Given the description of an element on the screen output the (x, y) to click on. 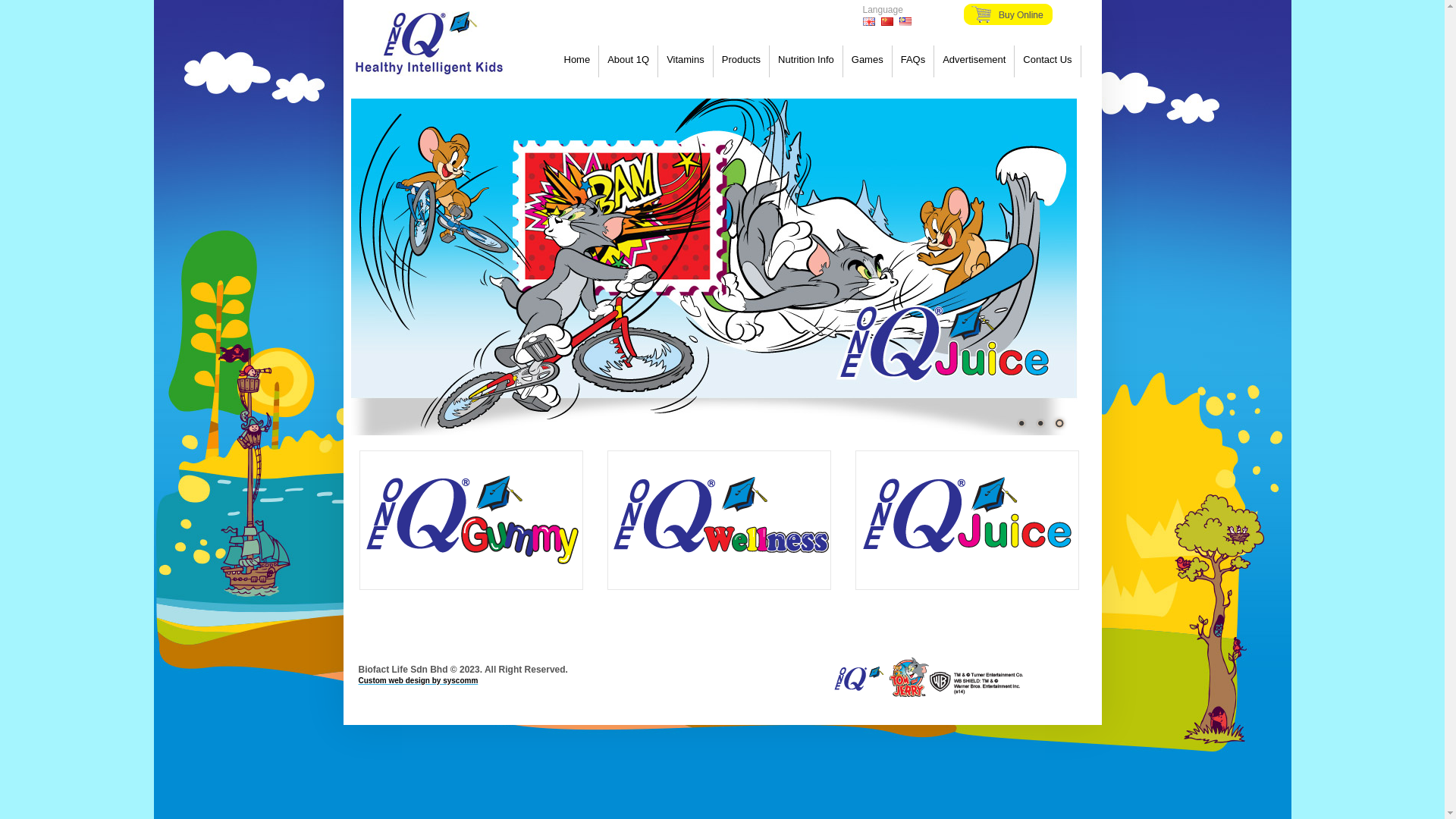
Products Element type: text (741, 59)
1 Element type: text (1021, 422)
About 1Q Element type: text (627, 59)
1QGummy Element type: hover (471, 519)
Custom web design by syscomm Element type: text (462, 685)
English Element type: hover (868, 21)
Bahasa Melayu Element type: hover (905, 21)
Biofact Life Sdn Bhd Element type: hover (428, 43)
Games Element type: text (867, 59)
Advertisement Element type: text (974, 59)
1QJuice Element type: hover (967, 519)
3 Element type: text (1059, 422)
1QWellness Element type: hover (718, 519)
2 Element type: text (1039, 422)
Chinese Element type: hover (887, 21)
Vitamins Element type: text (685, 59)
FAQs Element type: text (913, 59)
Nutrition Info Element type: text (805, 59)
Home Element type: text (577, 59)
Contact Us Element type: text (1047, 59)
